Given the description of an element on the screen output the (x, y) to click on. 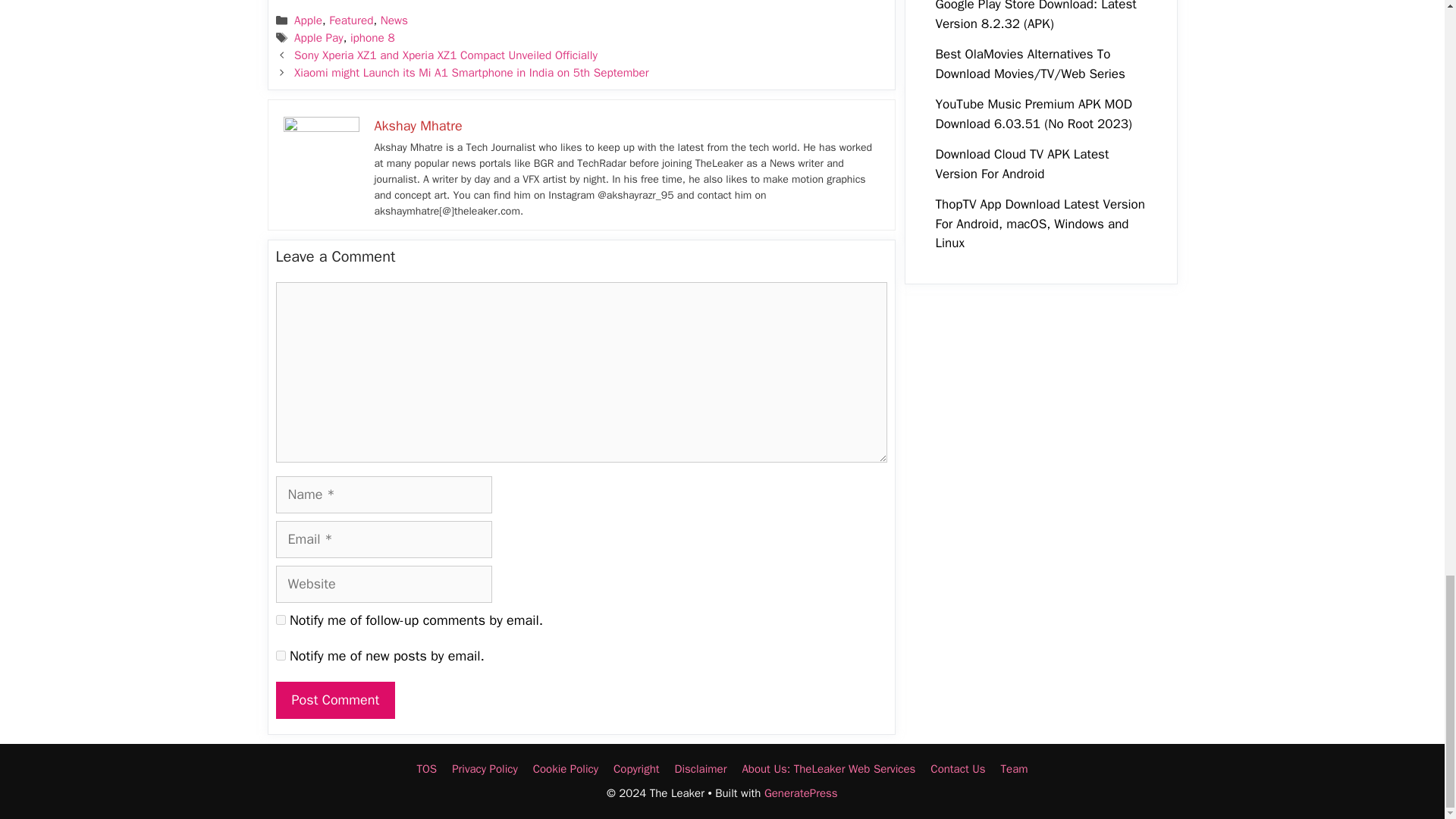
subscribe (280, 655)
Post Comment (336, 700)
subscribe (280, 619)
